Given the description of an element on the screen output the (x, y) to click on. 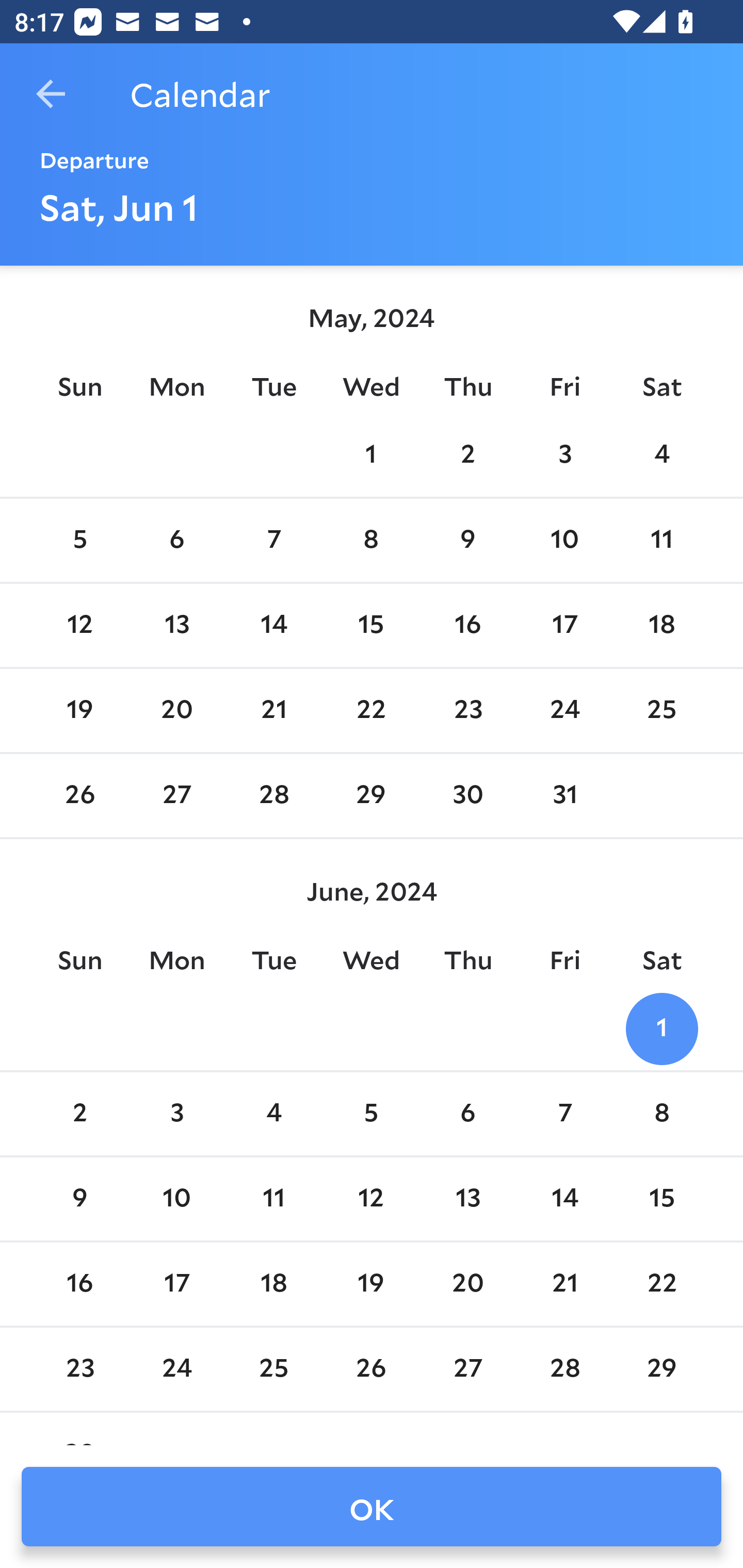
Navigate up (50, 93)
1 (371, 454)
2 (467, 454)
3 (565, 454)
4 (661, 454)
5 (79, 540)
6 (177, 540)
7 (273, 540)
8 (371, 540)
9 (467, 540)
10 (565, 540)
11 (661, 540)
12 (79, 625)
13 (177, 625)
14 (273, 625)
15 (371, 625)
16 (467, 625)
17 (565, 625)
18 (661, 625)
19 (79, 710)
20 (177, 710)
21 (273, 710)
22 (371, 710)
23 (467, 710)
24 (565, 710)
25 (661, 710)
26 (79, 796)
27 (177, 796)
28 (273, 796)
29 (371, 796)
30 (467, 796)
31 (565, 796)
1 (661, 1028)
2 (79, 1114)
3 (177, 1114)
4 (273, 1114)
5 (371, 1114)
6 (467, 1114)
7 (565, 1114)
8 (661, 1114)
9 (79, 1199)
10 (177, 1199)
11 (273, 1199)
12 (371, 1199)
13 (467, 1199)
14 (565, 1199)
15 (661, 1199)
16 (79, 1284)
17 (177, 1284)
18 (273, 1284)
